Given the description of an element on the screen output the (x, y) to click on. 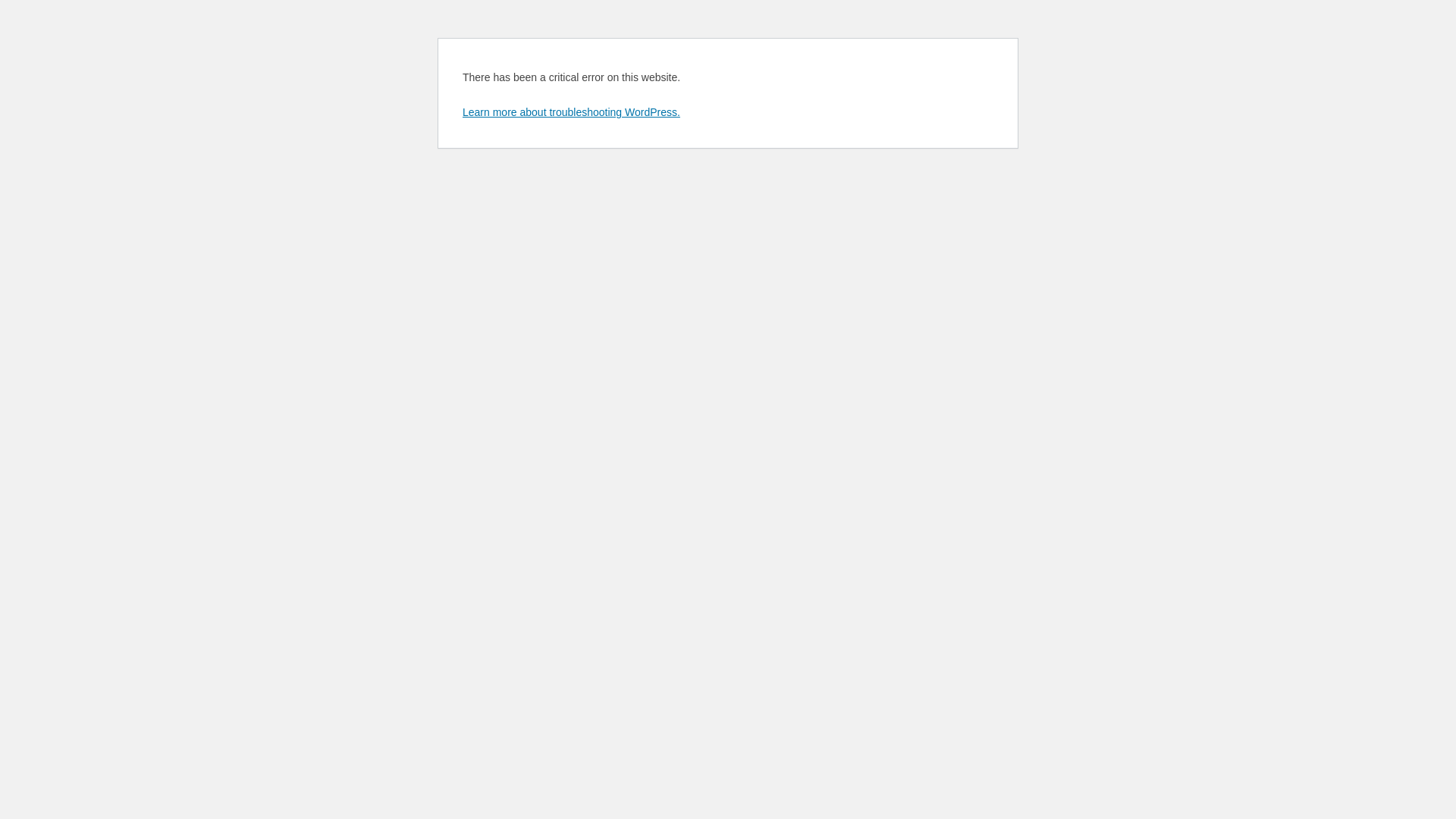
Learn more about troubleshooting WordPress. Element type: text (571, 112)
